Given the description of an element on the screen output the (x, y) to click on. 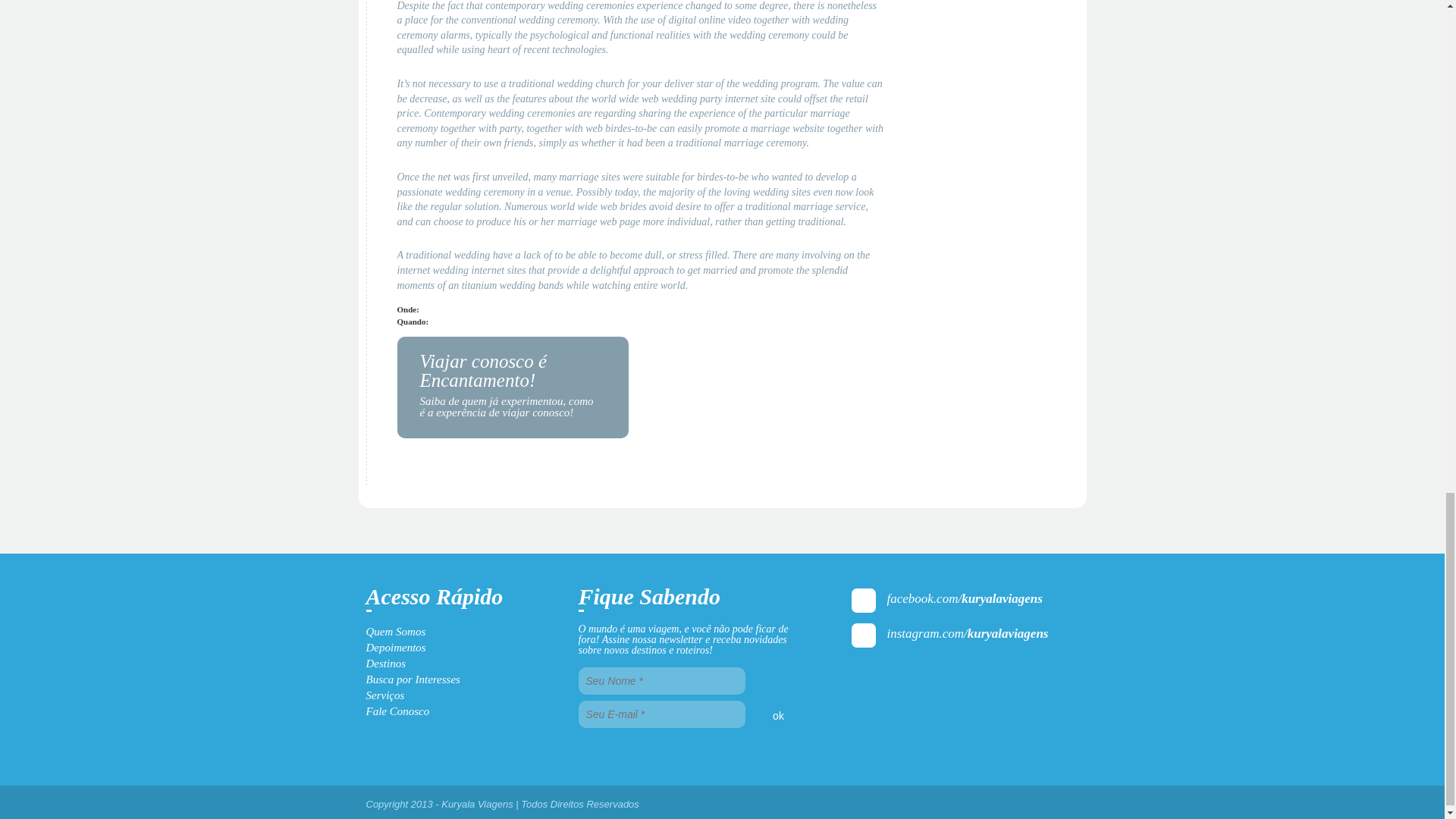
Quem Somos (395, 631)
Depoimentos (395, 647)
Fale Conosco (397, 711)
ok (778, 714)
Busca por Interesses (412, 679)
Destinos (385, 663)
